Given the description of an element on the screen output the (x, y) to click on. 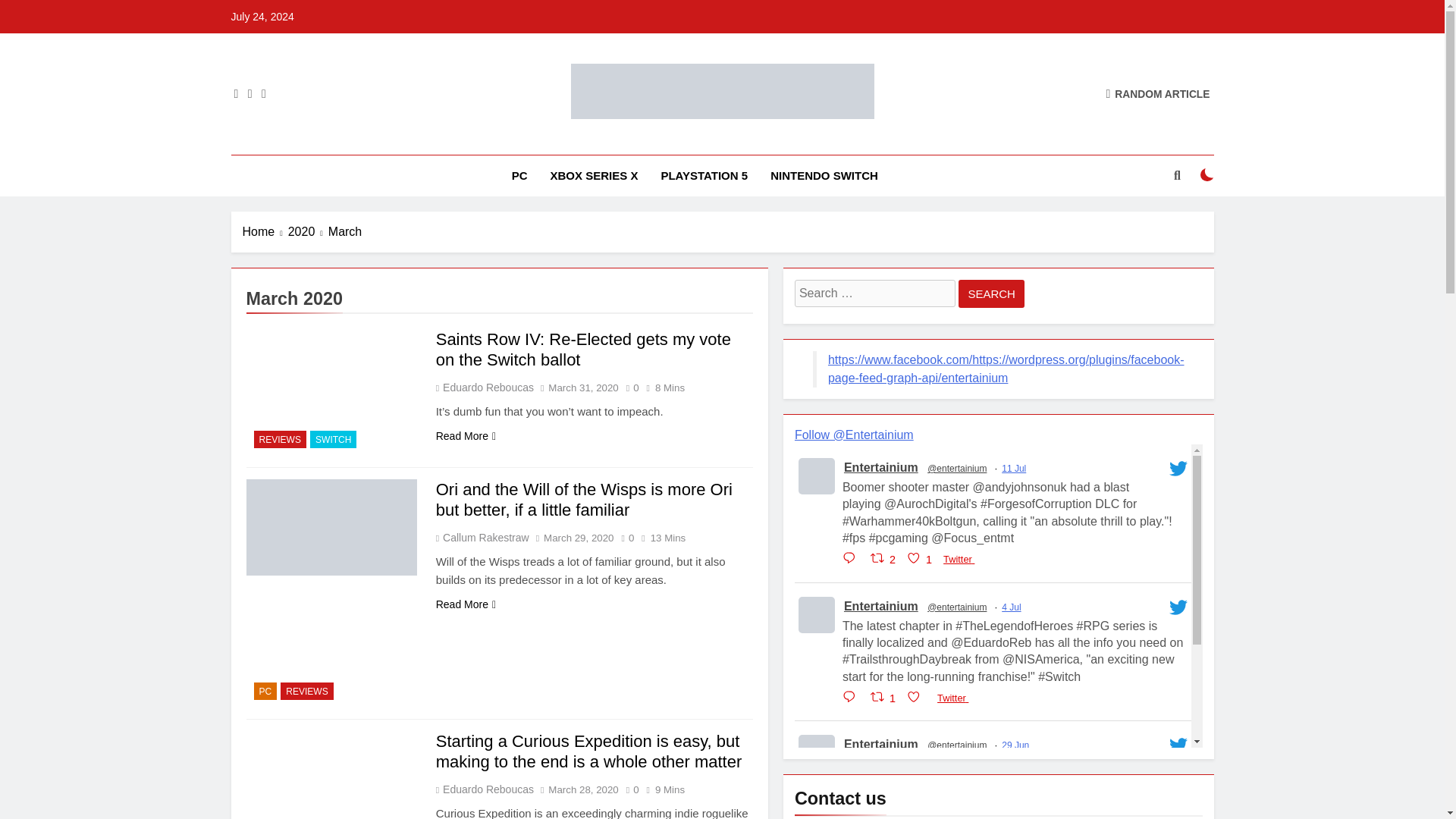
RANDOM ARTICLE (1157, 92)
Callum Rakestraw (484, 537)
0 (628, 386)
Search (991, 293)
SWITCH (333, 438)
March 29, 2020 (577, 537)
Eduardo Reboucas (486, 387)
Read More (465, 436)
REVIEWS (279, 438)
PC (519, 175)
XBOX SERIES X (593, 175)
Saints Row IV: Re-Elected gets my vote on the Switch ballot (582, 349)
